Given the description of an element on the screen output the (x, y) to click on. 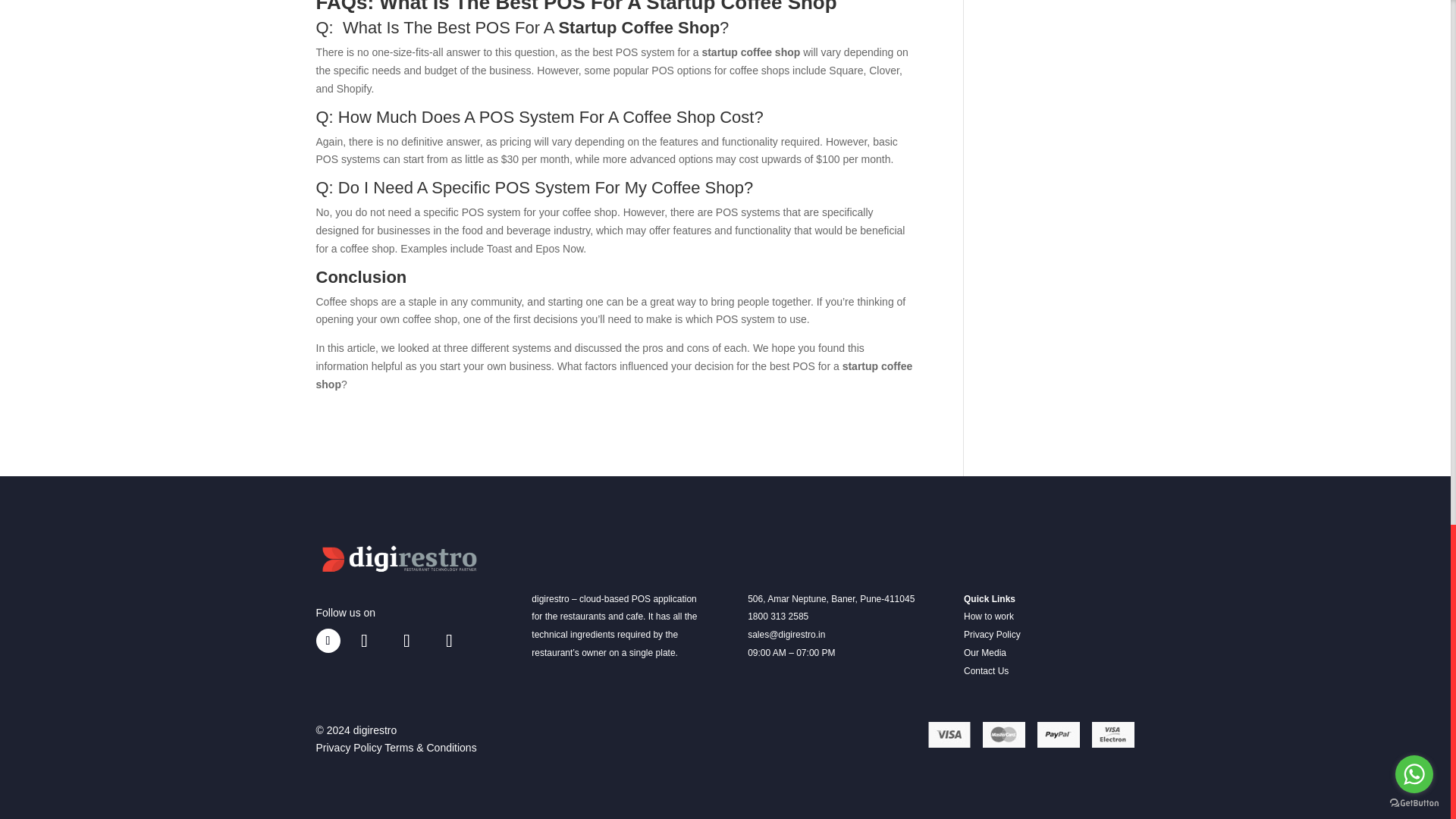
Follow on Instagram (363, 640)
Follow on Facebook (327, 640)
Our Media (984, 652)
1800 313 2585 (778, 615)
Artboard 2footer-logo (400, 559)
Follow on X (406, 640)
Contact Us (986, 670)
How to work (988, 615)
Privacy Policy (991, 634)
Follow on LinkedIn (448, 640)
